Given the description of an element on the screen output the (x, y) to click on. 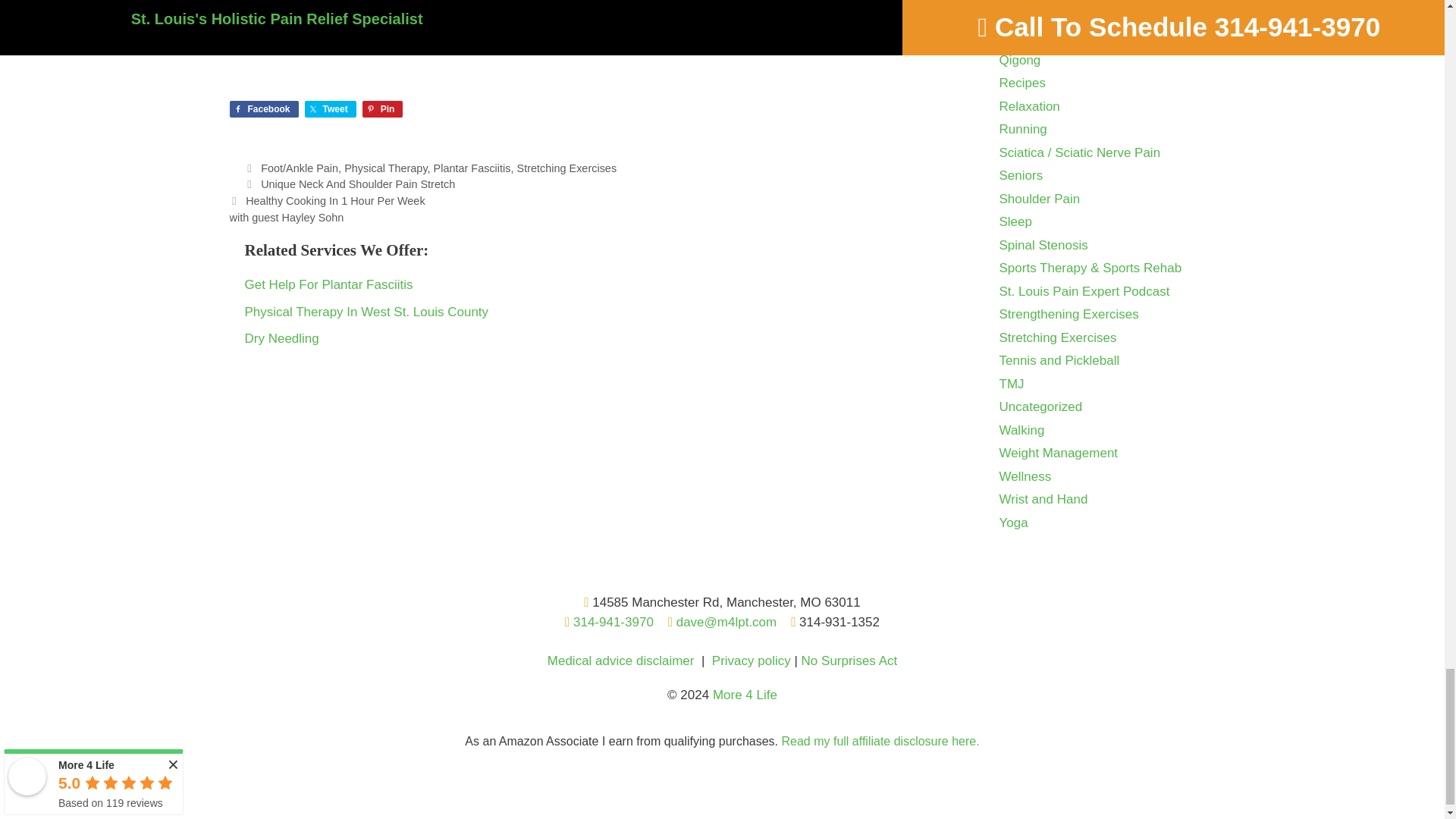
Share on Facebook (263, 108)
Share on Pinterest (382, 108)
Share on Twitter (330, 108)
